Given the description of an element on the screen output the (x, y) to click on. 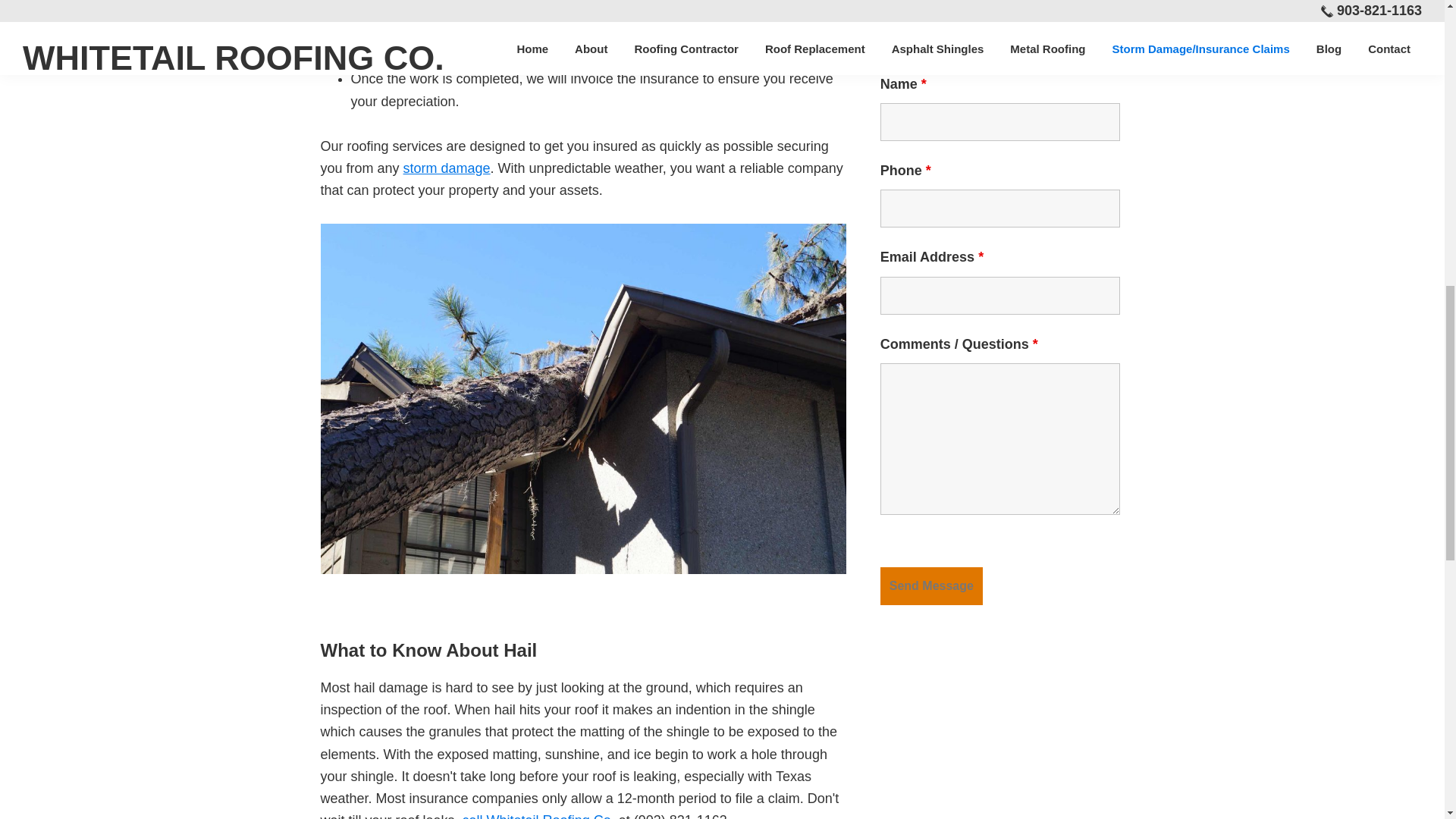
Send Message (931, 586)
Send Message (931, 586)
storm damage (446, 168)
call Whitetail Roofing Co. (538, 816)
